Given the description of an element on the screen output the (x, y) to click on. 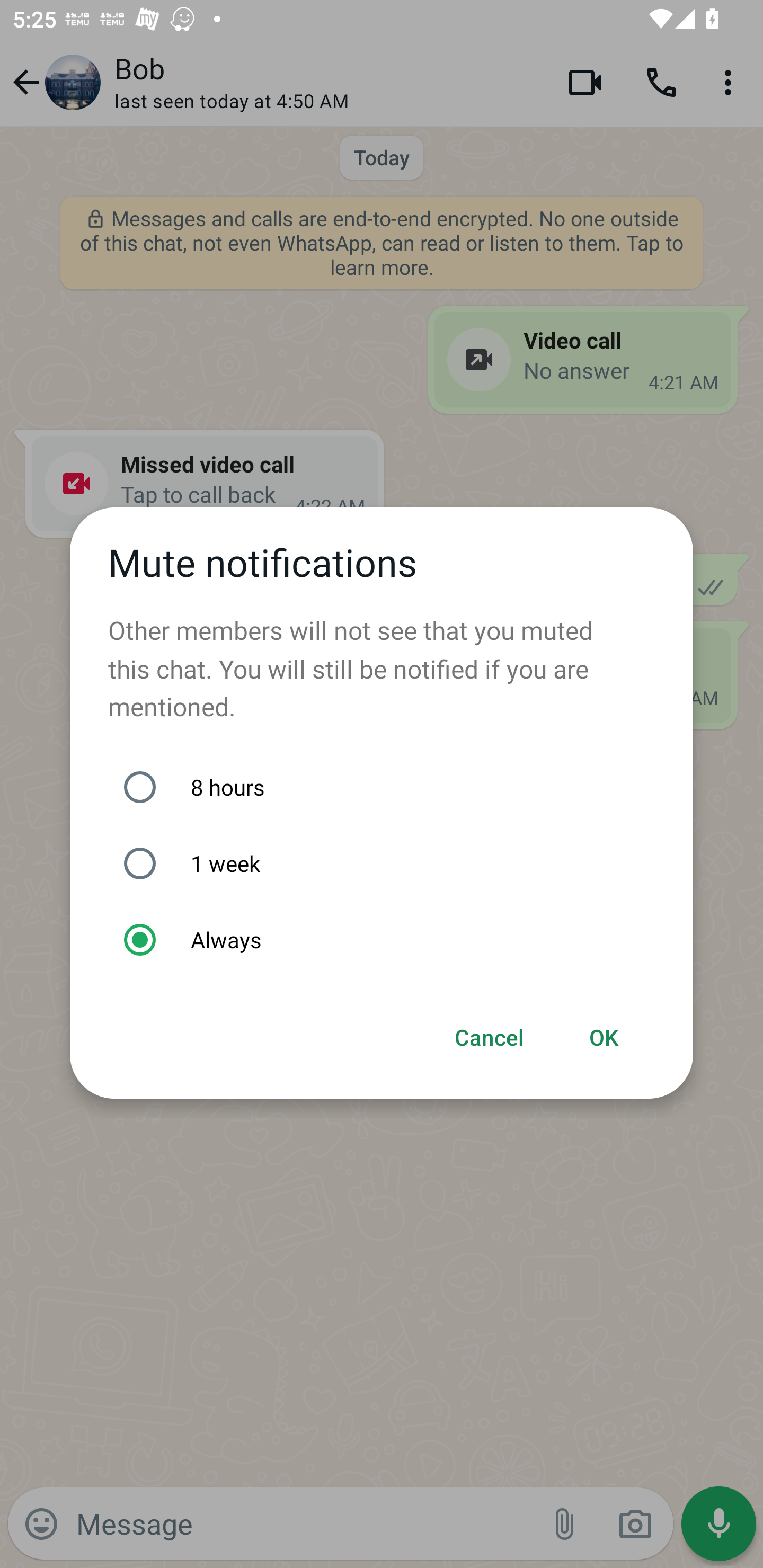
8 hours (390, 787)
1 week (390, 863)
Always (390, 939)
Cancel (489, 1037)
OK (603, 1037)
